Given the description of an element on the screen output the (x, y) to click on. 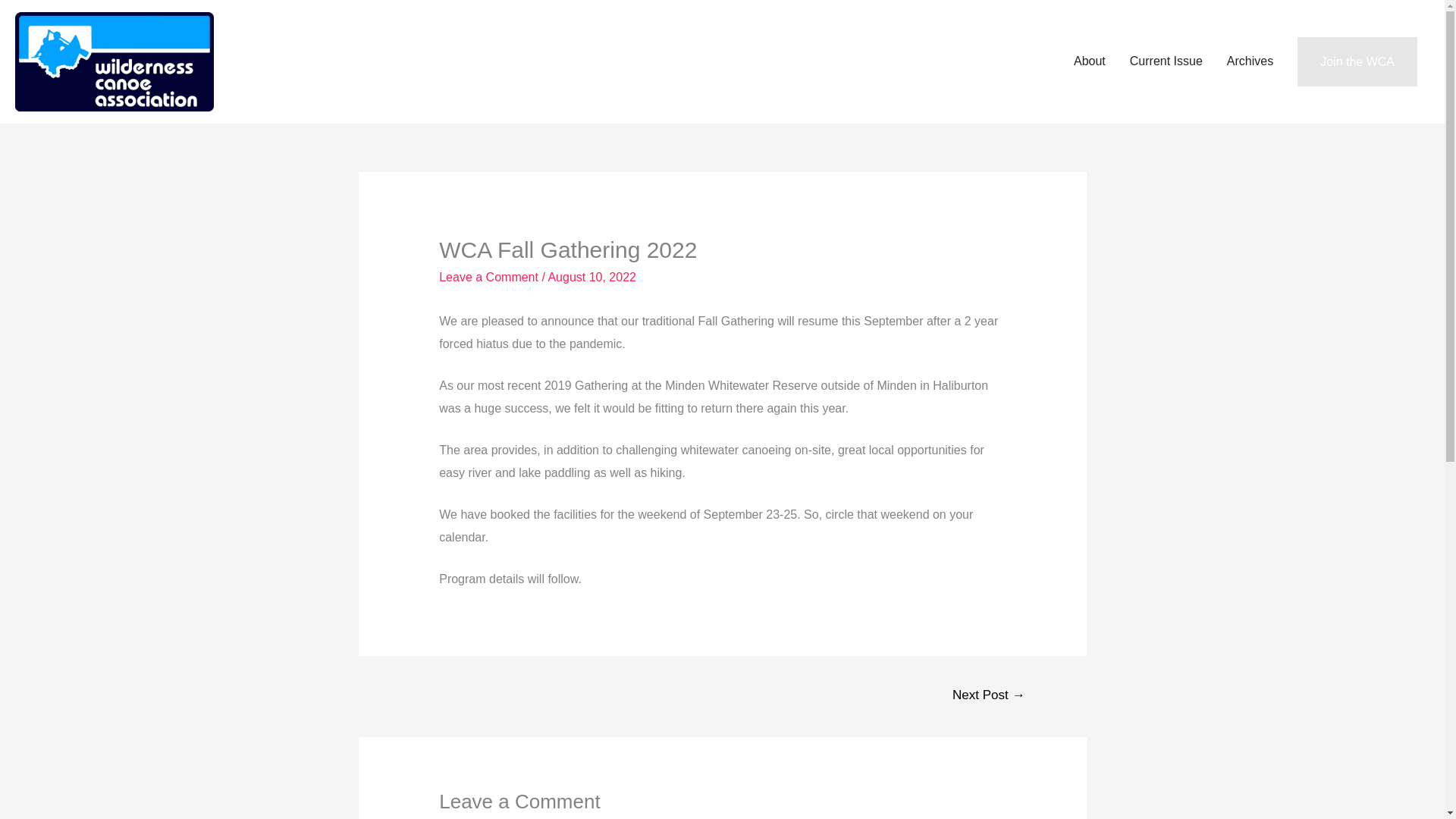
About (1089, 61)
Leave a Comment (488, 277)
Current Issue (1166, 61)
Archives (1249, 61)
Join the WCA (1356, 61)
